Given the description of an element on the screen output the (x, y) to click on. 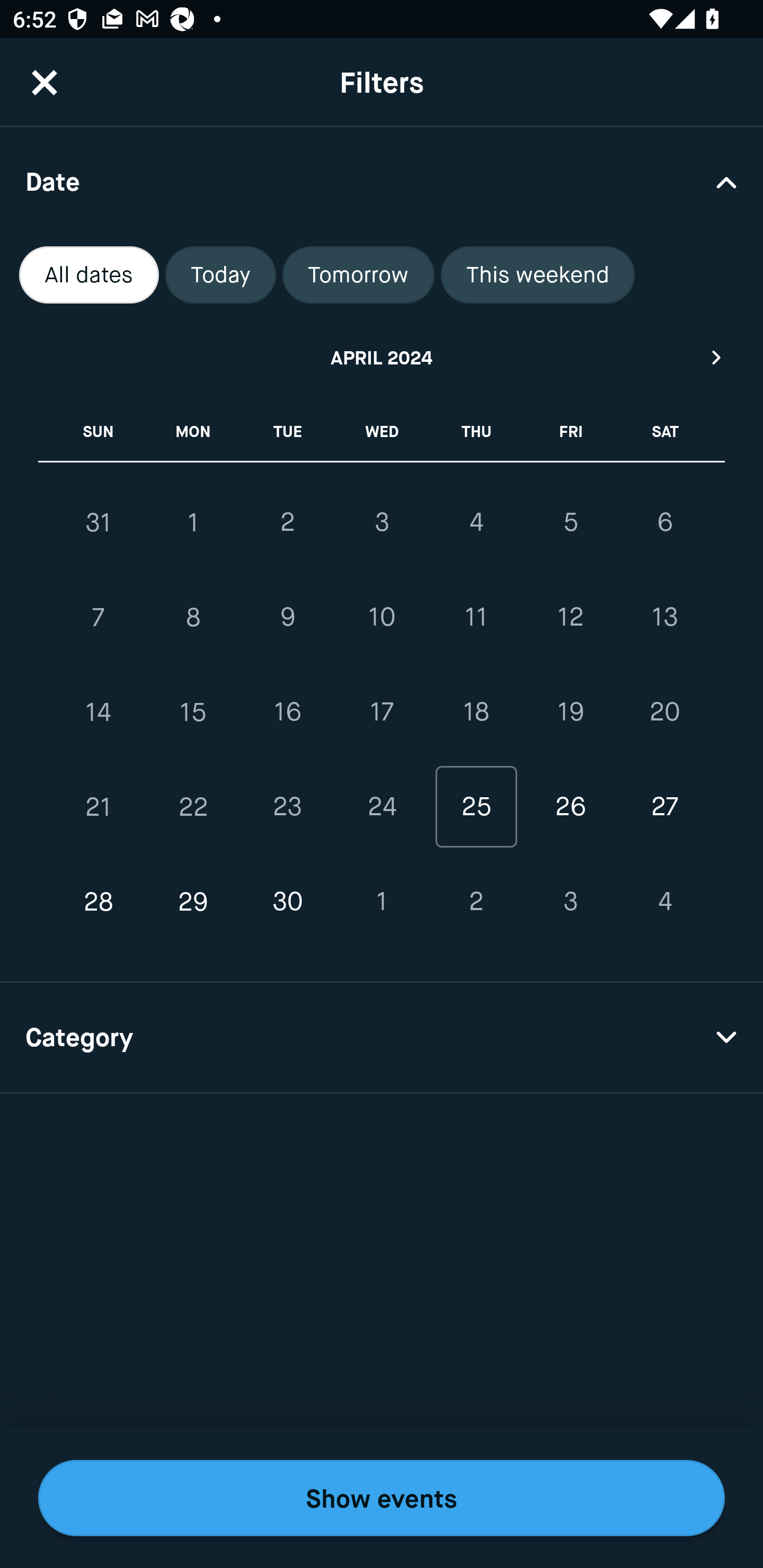
CloseButton (44, 82)
Date Drop Down Arrow (381, 181)
All dates (88, 274)
Today (220, 274)
Tomorrow (358, 274)
This weekend (537, 274)
Next (717, 357)
31 (98, 522)
1 (192, 522)
2 (287, 522)
3 (381, 522)
4 (475, 522)
5 (570, 522)
6 (664, 522)
7 (98, 617)
8 (192, 617)
9 (287, 617)
10 (381, 617)
11 (475, 617)
12 (570, 617)
13 (664, 617)
14 (98, 711)
15 (192, 711)
16 (287, 711)
17 (381, 711)
18 (475, 711)
19 (570, 711)
20 (664, 711)
21 (98, 806)
22 (192, 806)
23 (287, 806)
24 (381, 806)
25 (475, 806)
26 (570, 806)
27 (664, 806)
28 (98, 901)
29 (192, 901)
30 (287, 901)
1 (381, 901)
2 (475, 901)
3 (570, 901)
4 (664, 901)
Category Drop Down Arrow (381, 1038)
Show events (381, 1497)
